Given the description of an element on the screen output the (x, y) to click on. 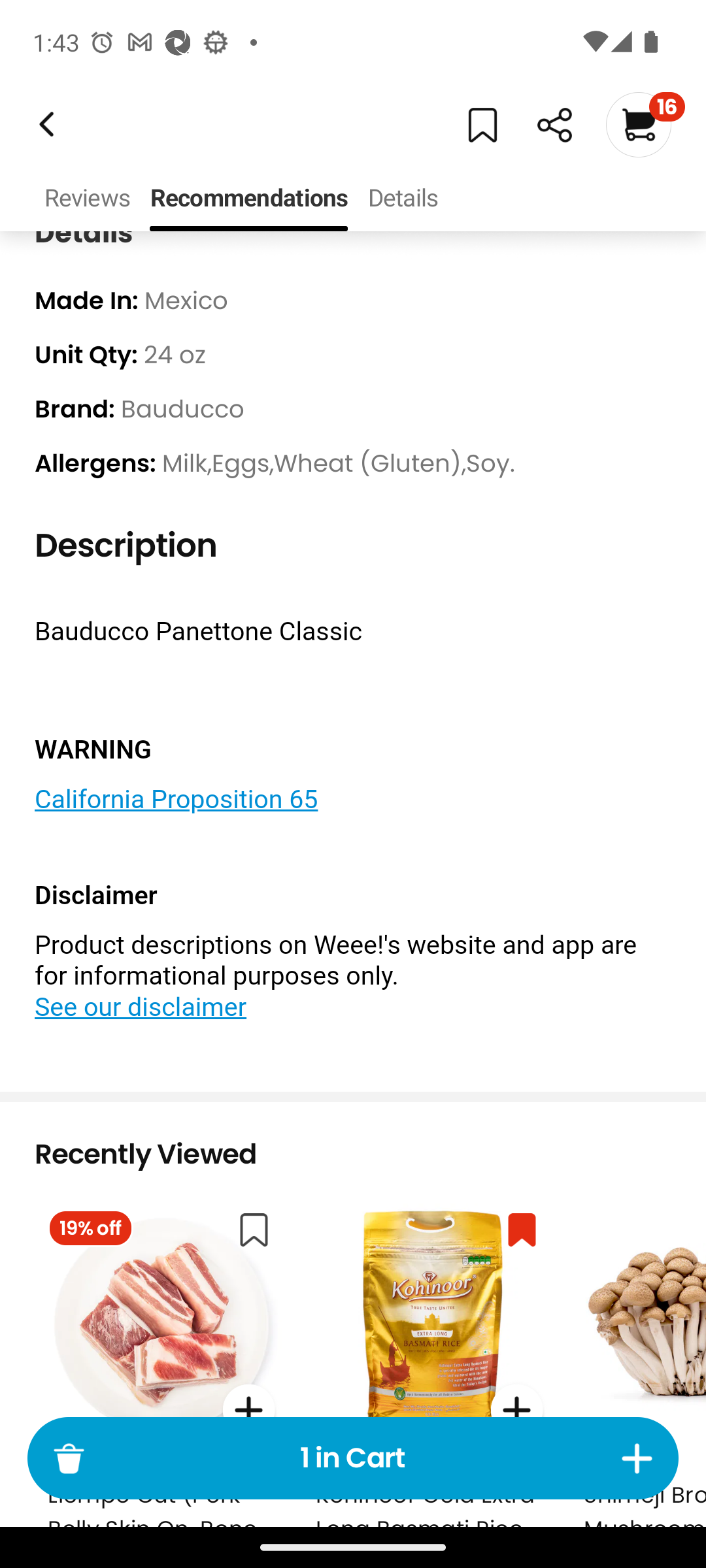
16 (644, 124)
Weee! (45, 124)
Weee! (554, 125)
Reviews (86, 199)
Recommendations (248, 199)
Details (402, 199)
California Proposition 65 (176, 799)
See our disclaimer (140, 1005)
Kohinoor Gold Extra Long Basmati Rice 10 lb (429, 1360)
Shimeji Brown Mushroom 150 g (637, 1360)
1 in Cart (352, 1458)
